Given the description of an element on the screen output the (x, y) to click on. 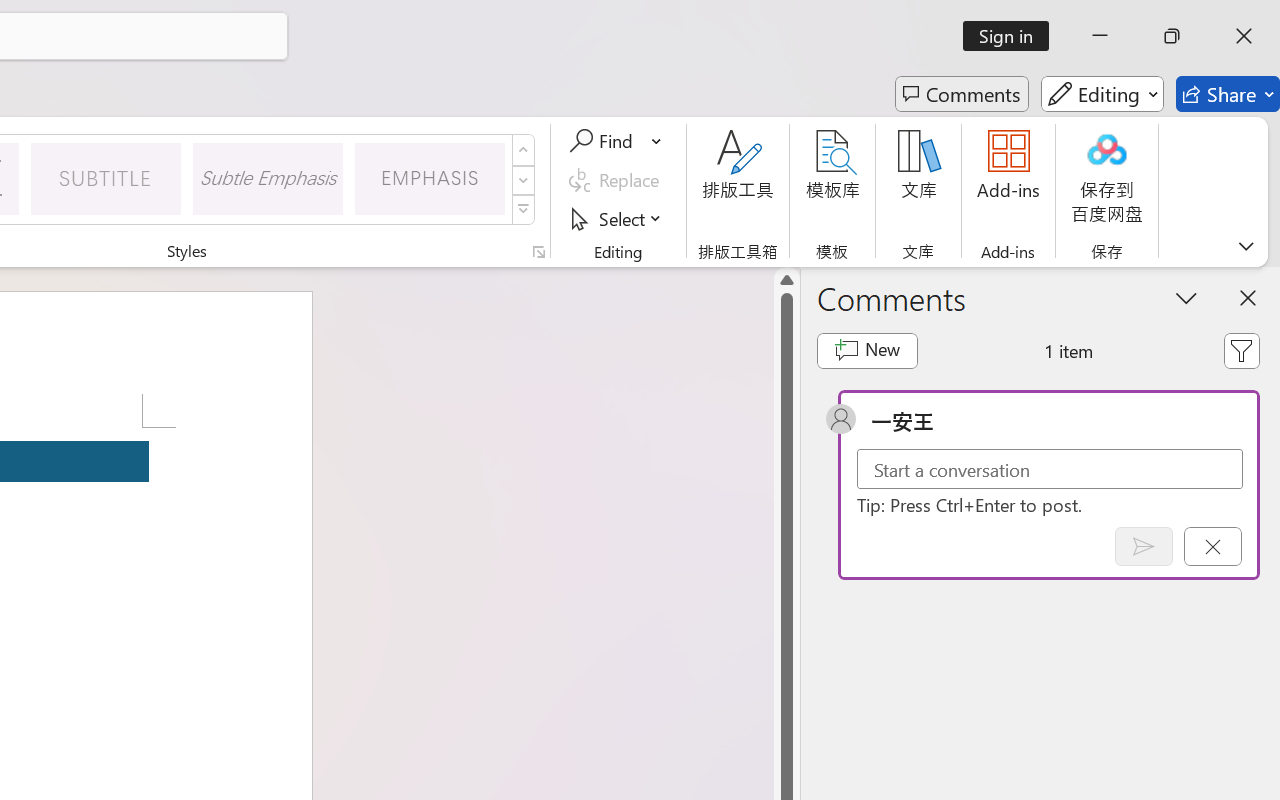
Subtle Emphasis (267, 178)
Cancel (1212, 546)
Start a conversation (1050, 468)
Subtitle (105, 178)
